Given the description of an element on the screen output the (x, y) to click on. 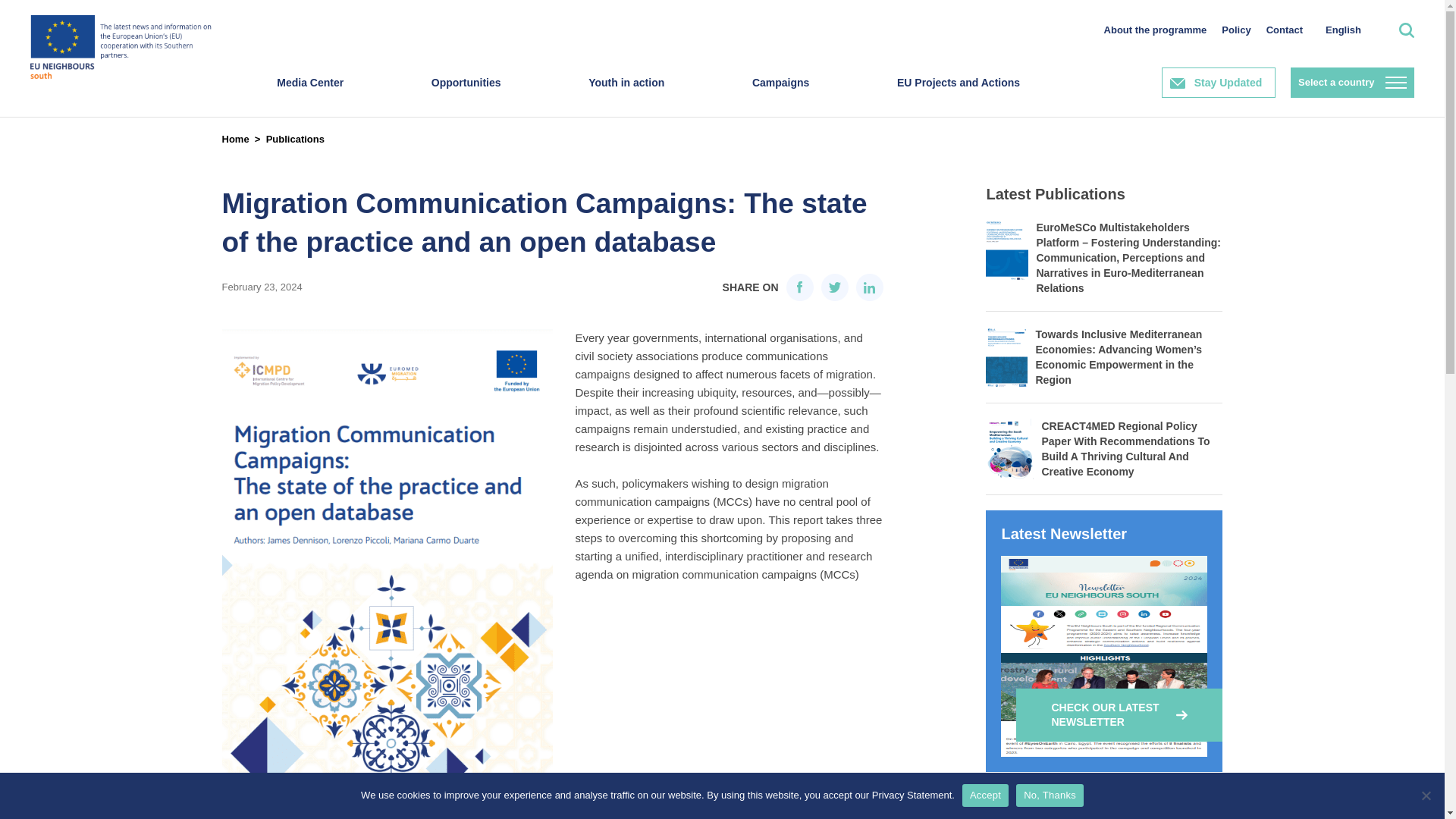
Media Center (309, 97)
About the programme (1155, 30)
No, Thanks (1425, 795)
Policy (1235, 30)
Contact (1284, 30)
English (1342, 29)
